Given the description of an element on the screen output the (x, y) to click on. 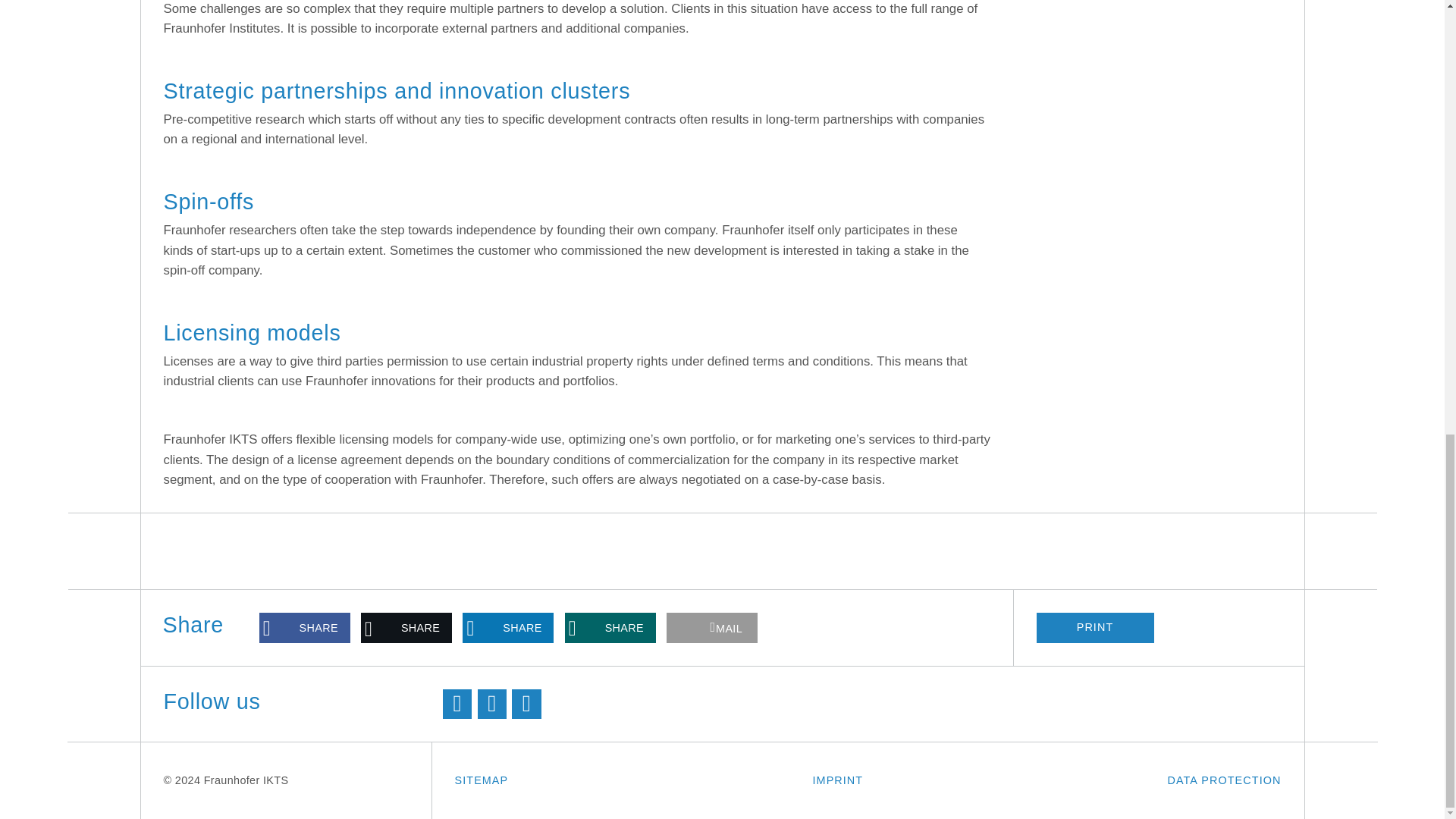
Share on LinkedIn (508, 627)
Send by email (711, 627)
Share on Facebook (304, 627)
Share on X (406, 627)
Visit us on Instagram (526, 704)
Share on XING (610, 627)
